Given the description of an element on the screen output the (x, y) to click on. 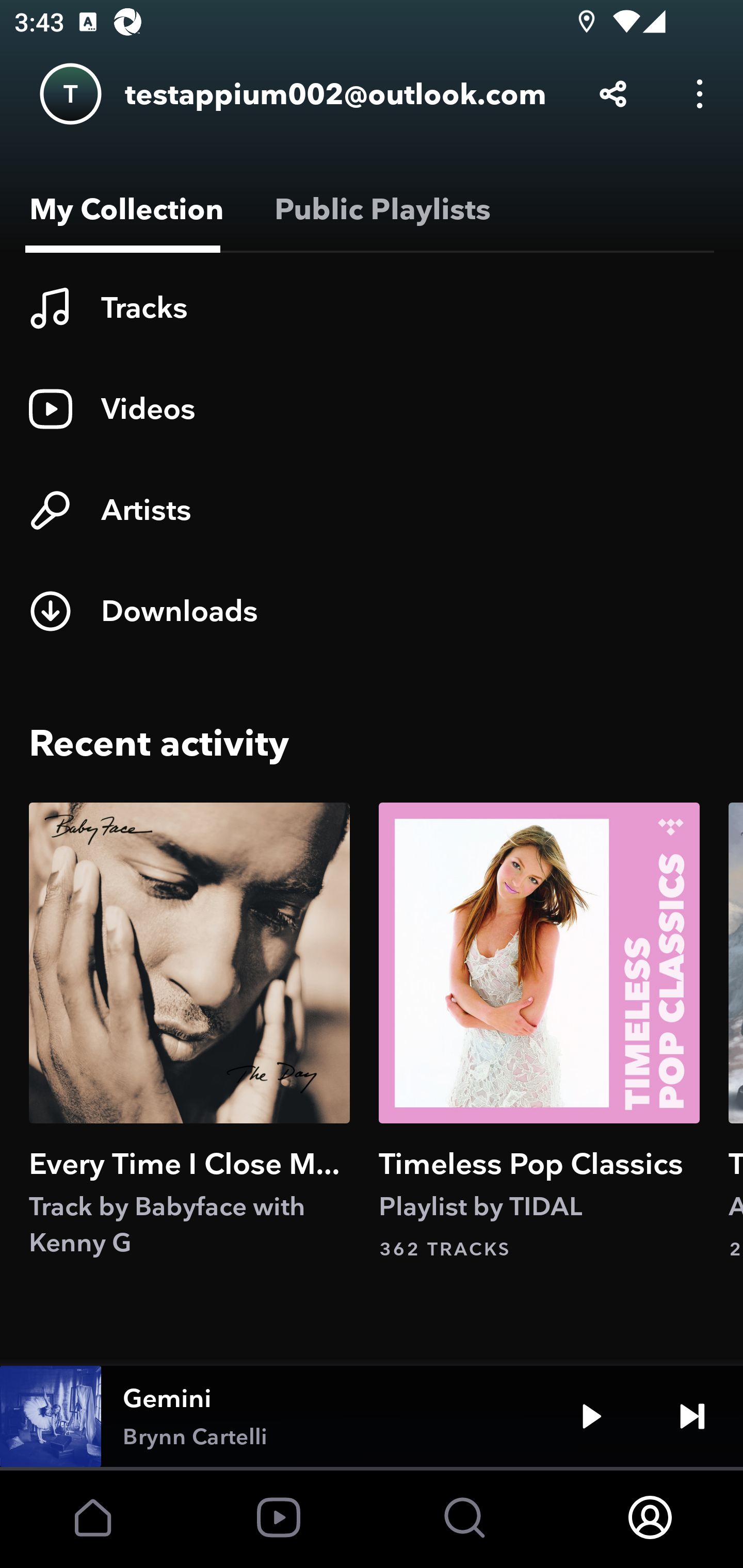
Share (612, 93)
Options (699, 93)
Public Playlists (378, 209)
Tracks (371, 308)
Videos (371, 409)
Artists (371, 510)
Downloads (371, 611)
Timeless Pop Classics Playlist by TIDAL 362 TRACKS (538, 1031)
Gemini Brynn Cartelli Play (371, 1416)
Play (590, 1416)
